Given the description of an element on the screen output the (x, y) to click on. 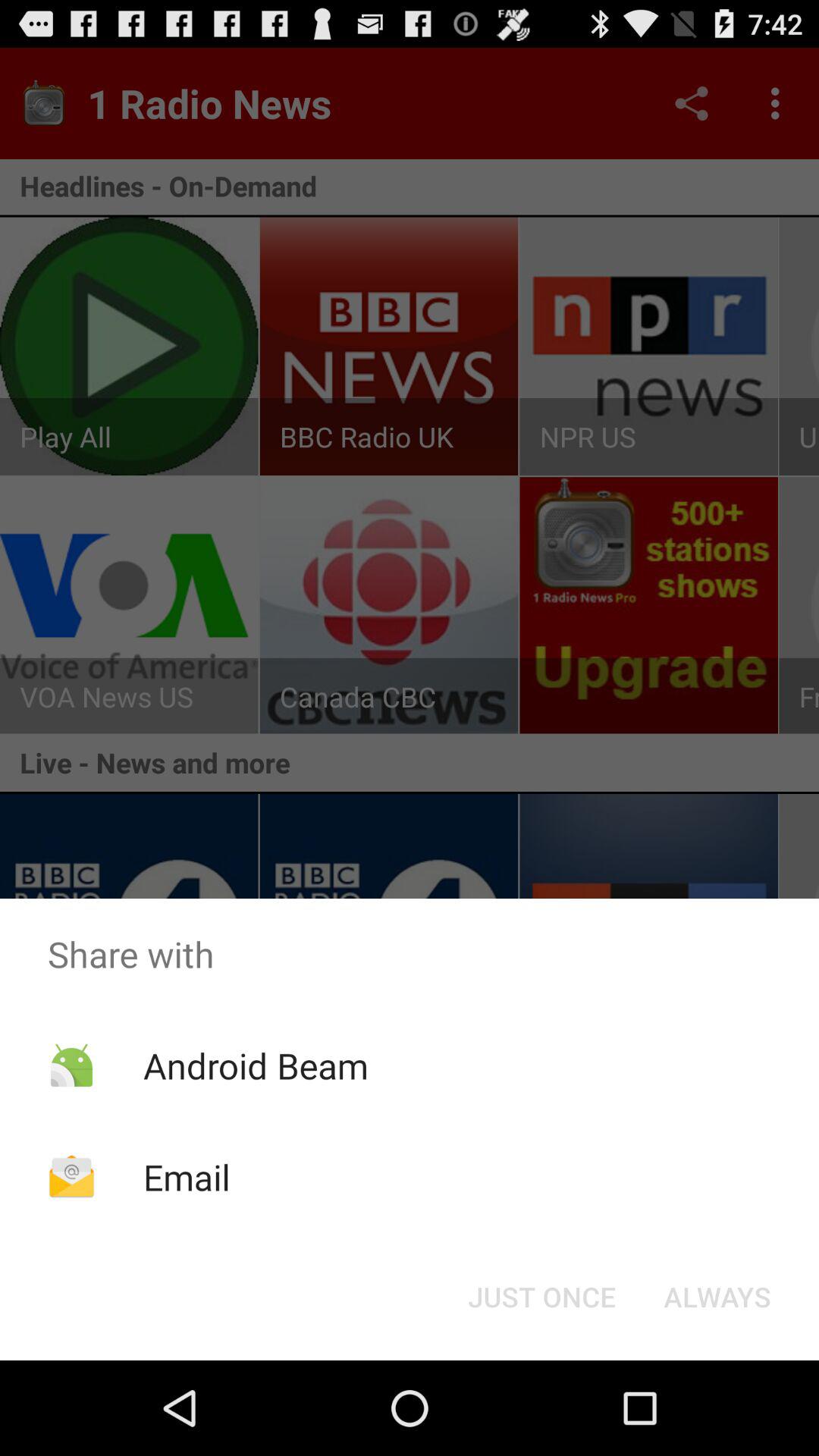
open the icon at the bottom (541, 1296)
